Given the description of an element on the screen output the (x, y) to click on. 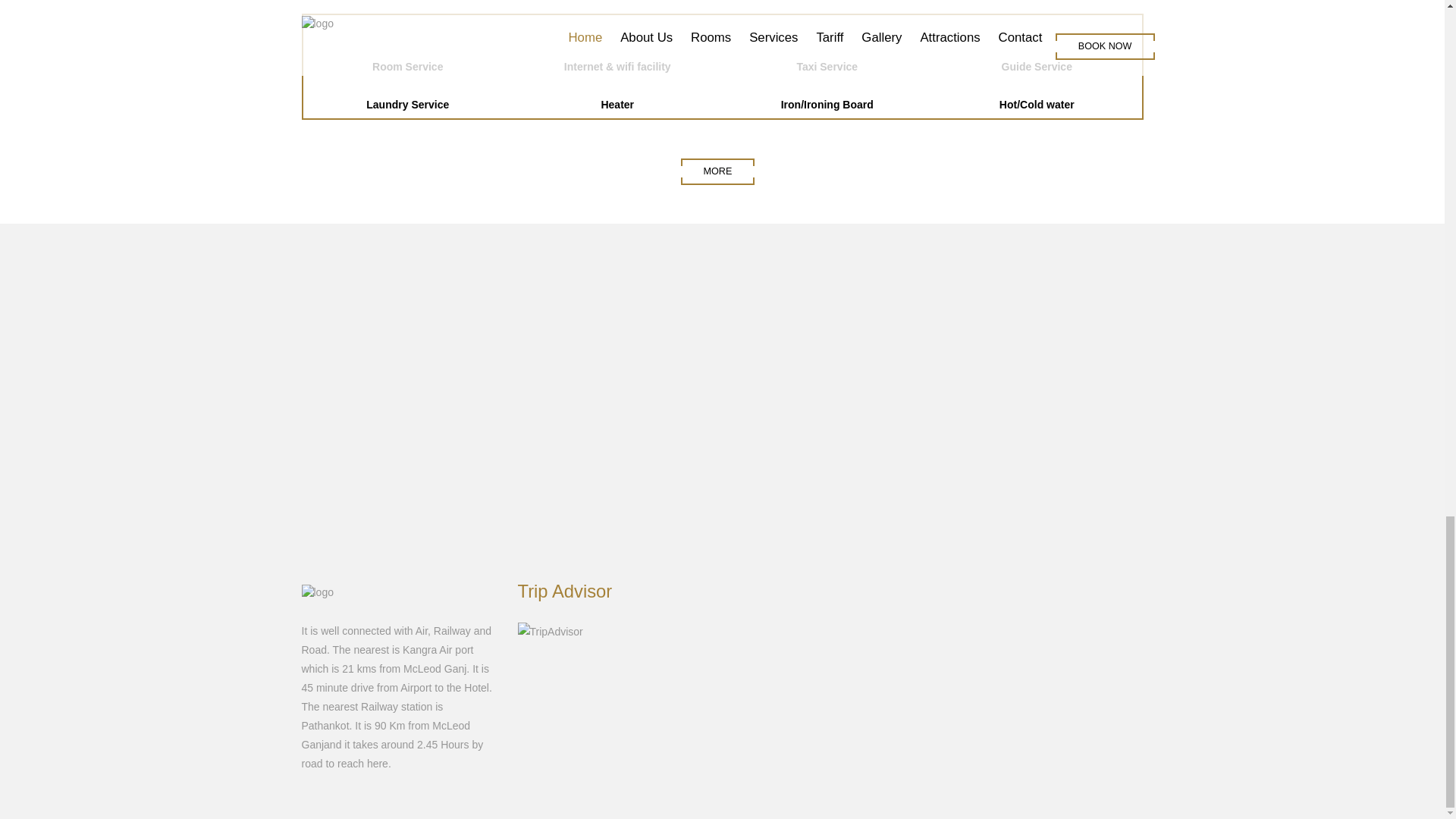
MORE (718, 171)
